Given the description of an element on the screen output the (x, y) to click on. 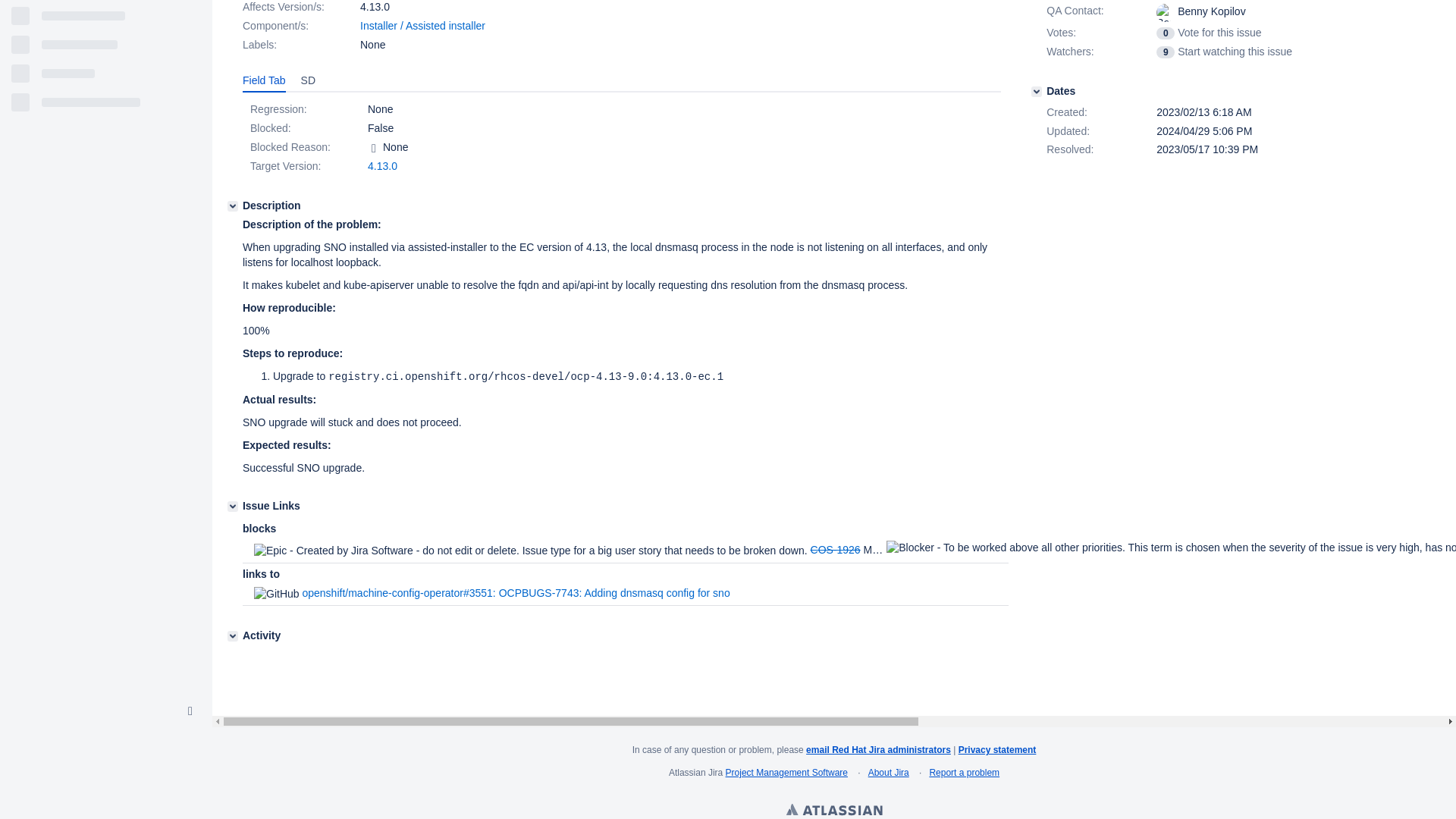
4.13.0 (382, 165)
Dates (1036, 91)
Description (232, 205)
Field Tab (264, 80)
SD (308, 80)
COS-1926 (835, 549)
Issue Links (232, 506)
